Given the description of an element on the screen output the (x, y) to click on. 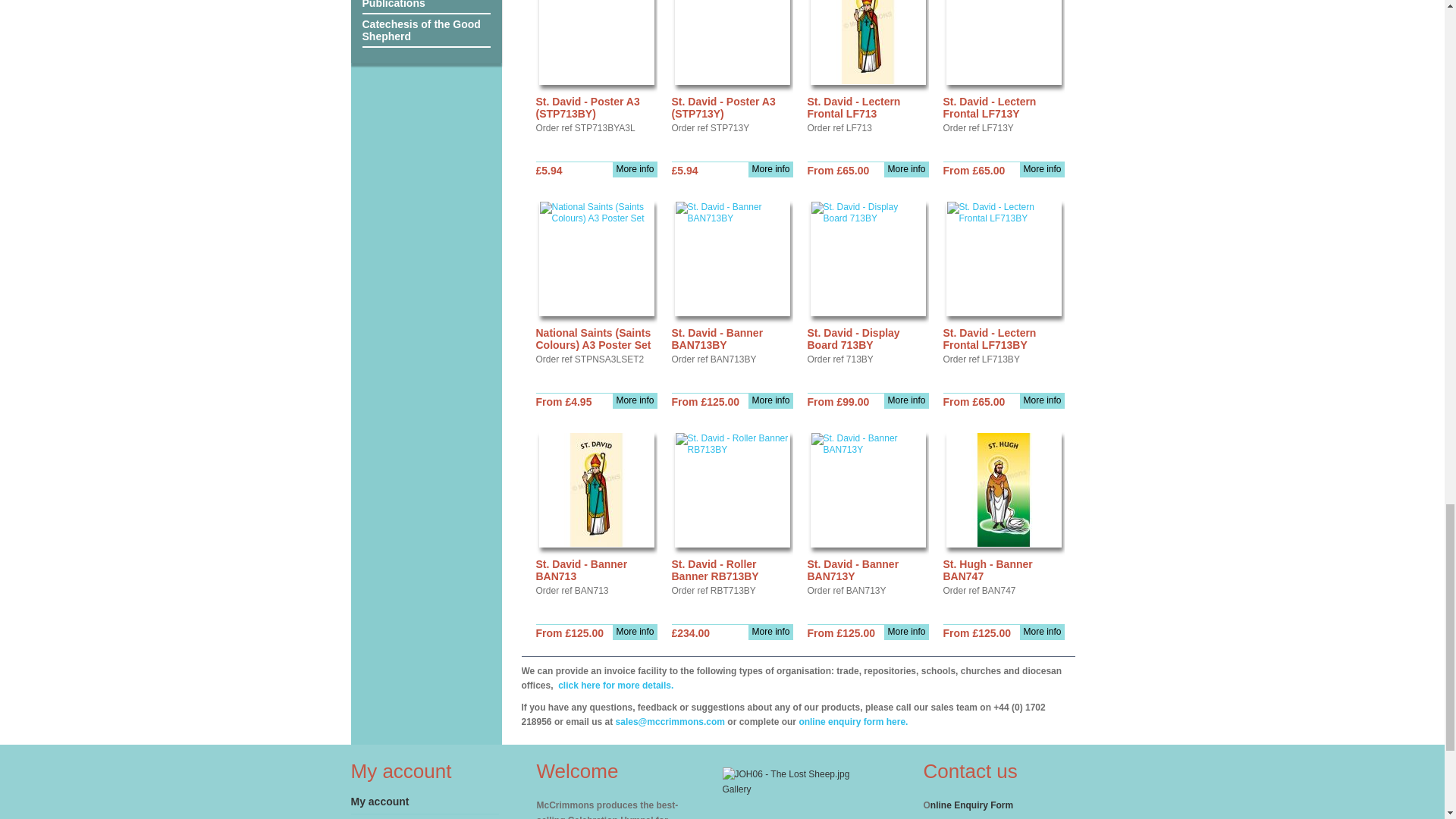
JOH06 - The Lost Sheep.jpg (785, 774)
